Given the description of an element on the screen output the (x, y) to click on. 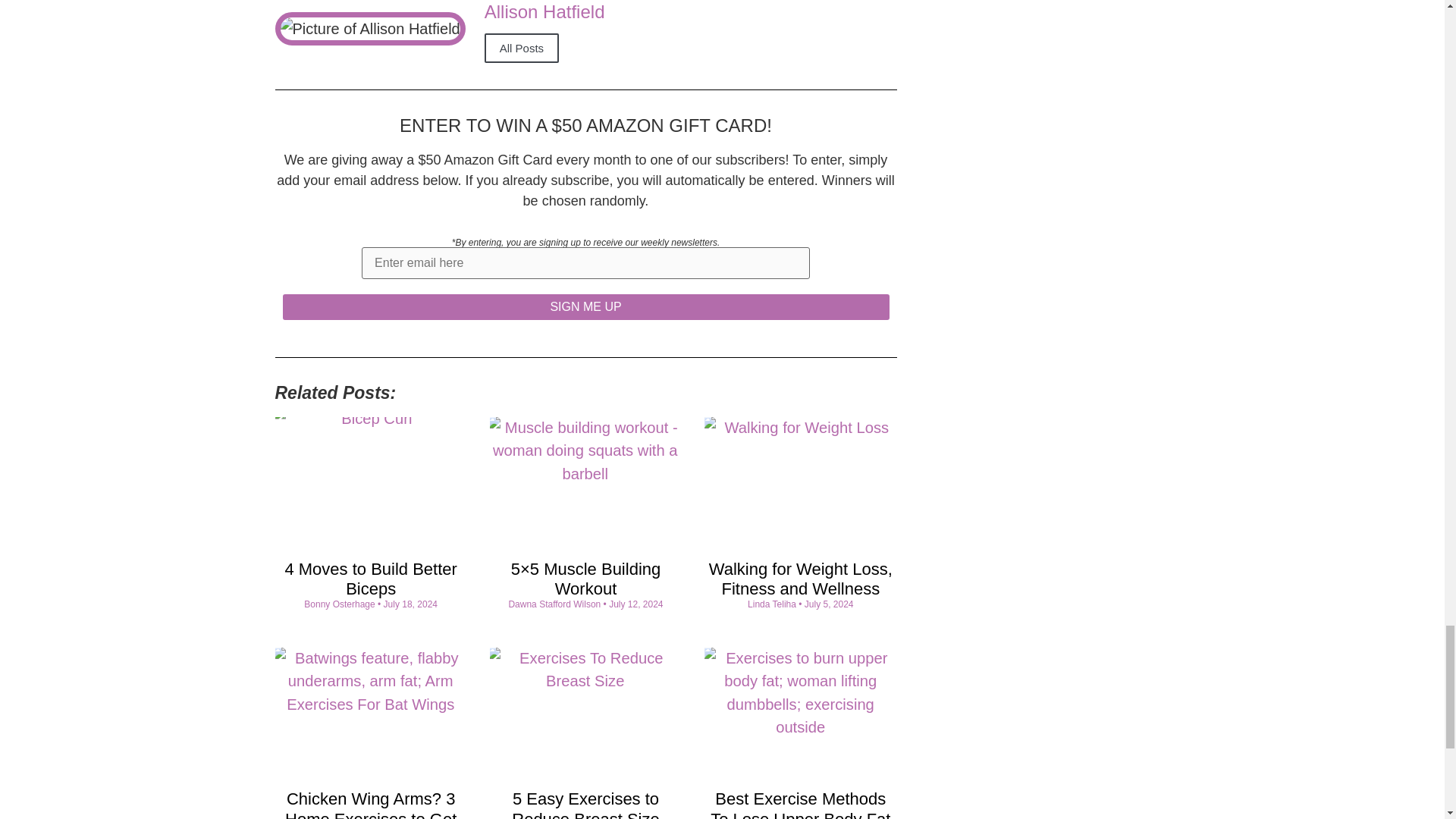
SIGN ME UP (585, 307)
Walking for Weight Loss, Fitness and Wellness (800, 578)
Best Exercise Methods To Lose Upper Body Fat (799, 804)
4 Moves to Build Better Biceps (370, 578)
All Posts (521, 48)
Chicken Wing Arms? 3 Home Exercises to Get Rid of Them (371, 804)
5 Easy Exercises to Reduce Breast Size (585, 804)
SIGN ME UP (585, 307)
